Given the description of an element on the screen output the (x, y) to click on. 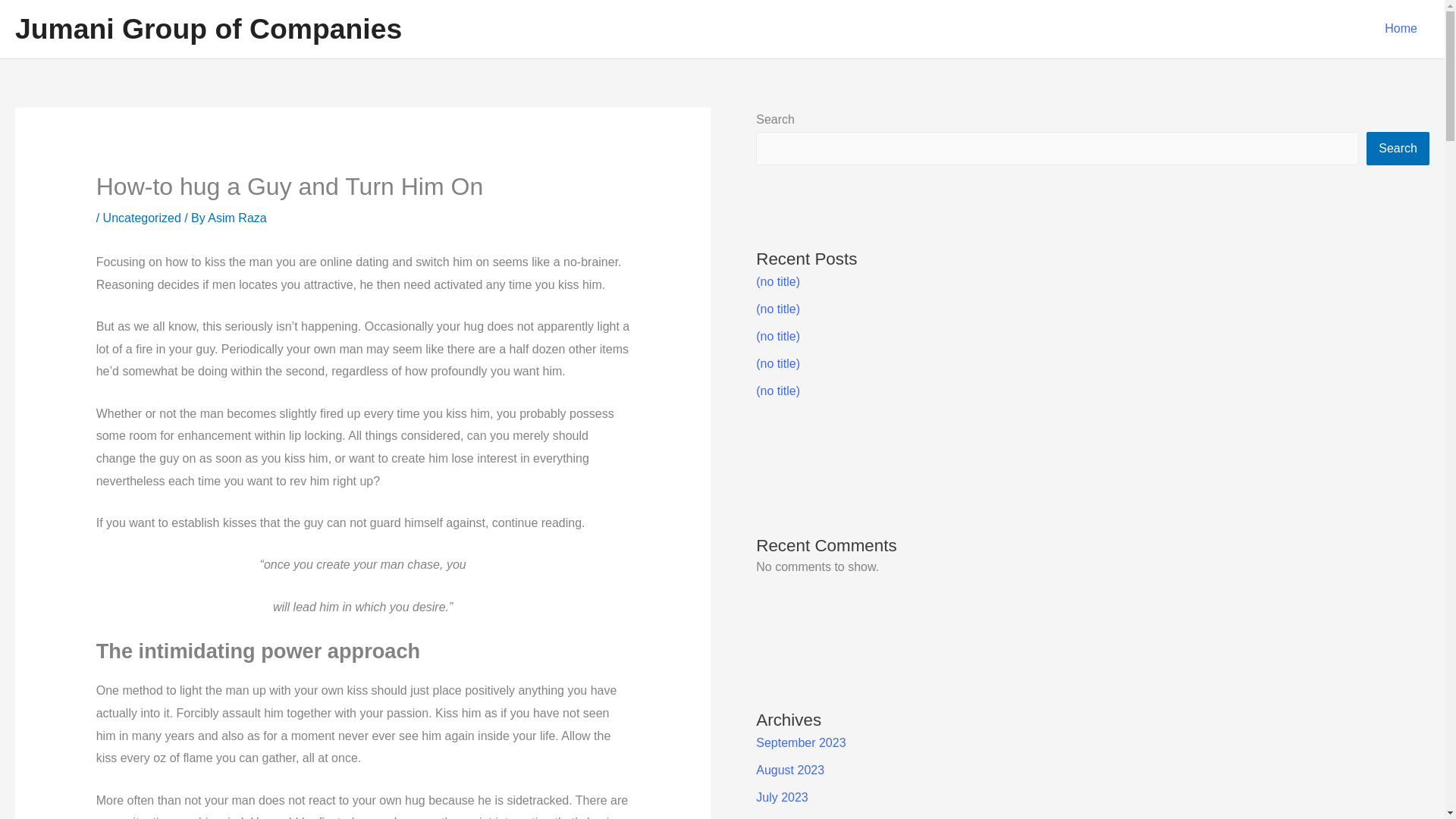
Home (1401, 28)
View all posts by Asim Raza (237, 217)
July 2023 (781, 797)
Asim Raza (237, 217)
Jumani Group of Companies (207, 29)
Search (1398, 148)
Uncategorized (141, 217)
August 2023 (789, 769)
May 2023 (782, 818)
September 2023 (800, 742)
